Given the description of an element on the screen output the (x, y) to click on. 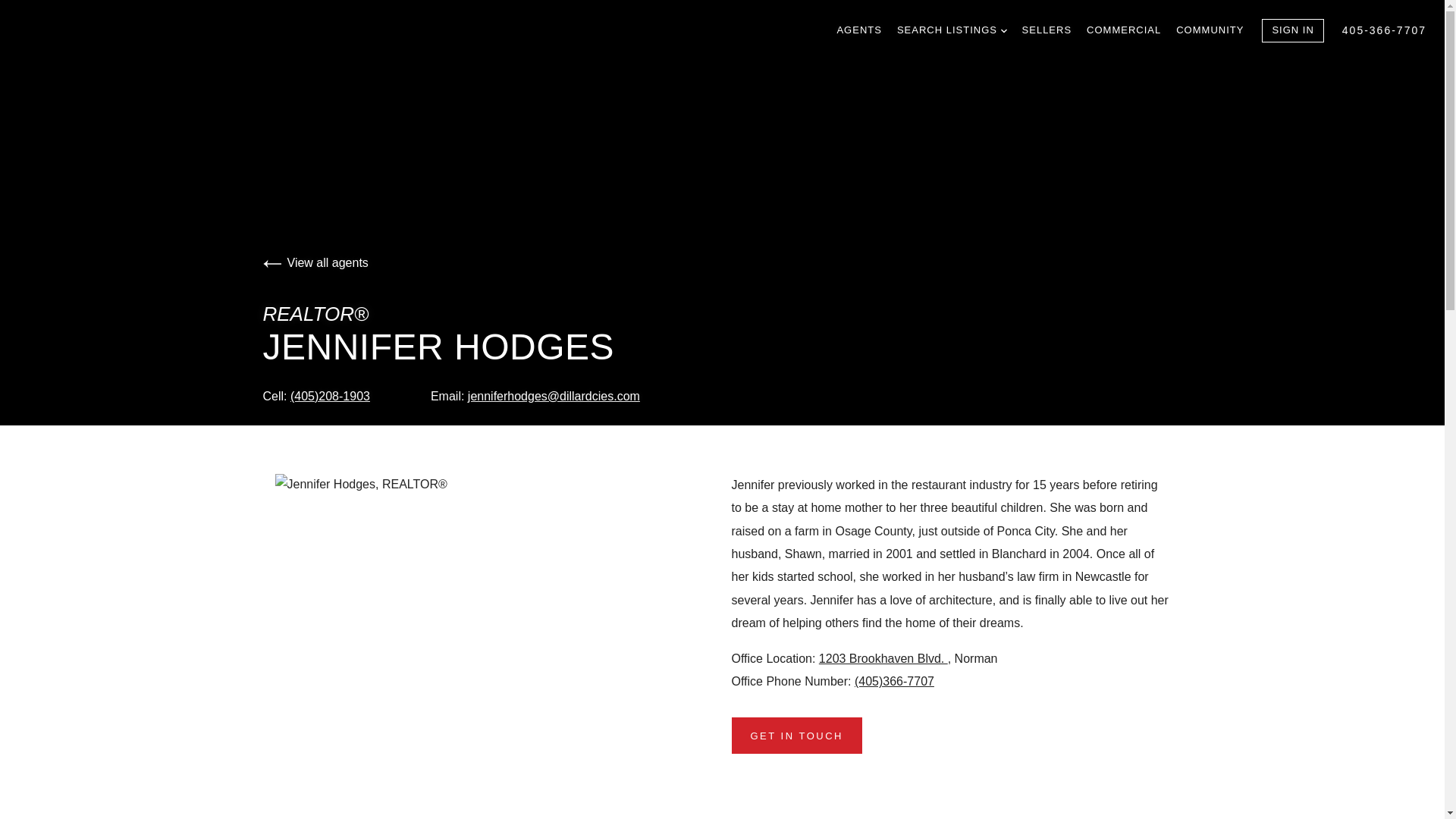
Arrow left (271, 263)
SIGN IN (1292, 30)
COMMERCIAL (1123, 30)
AGENTS (857, 30)
Arrow left View all agents (315, 262)
DROPDOWN ARROW (1004, 30)
1203 Brookhaven Blvd. (882, 658)
SELLERS (1046, 30)
COMMUNITY (1209, 30)
GET IN TOUCH (795, 735)
